Given the description of an element on the screen output the (x, y) to click on. 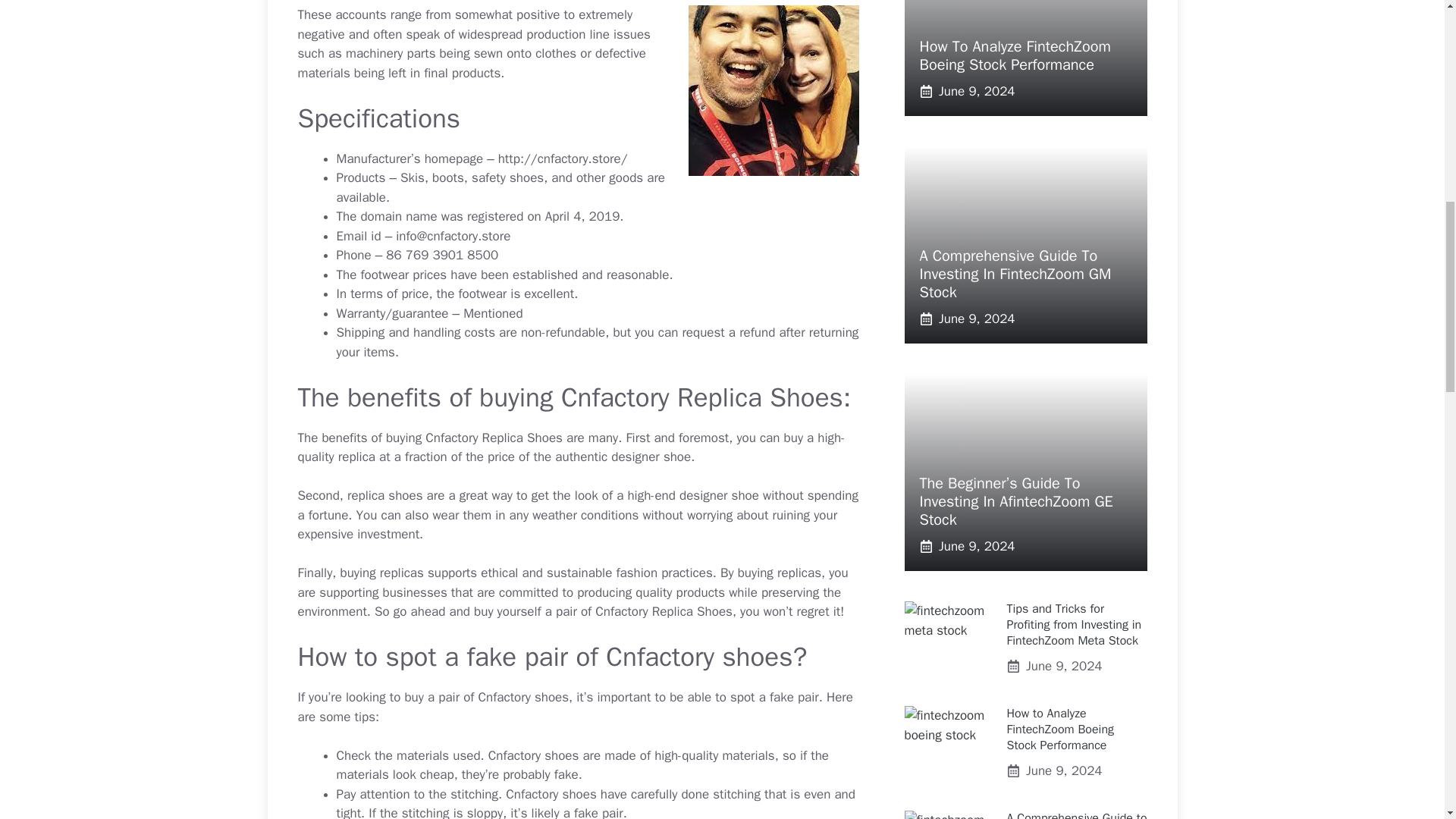
A Comprehensive Guide to Investing in FintechZoom GM Stock (1077, 814)
A Comprehensive Guide To Investing In FintechZoom GM Stock (1014, 274)
Scroll back to top (1406, 720)
How To Analyze FintechZoom Boeing Stock Performance (1013, 55)
How to Analyze FintechZoom Boeing Stock Performance (1061, 728)
